Given the description of an element on the screen output the (x, y) to click on. 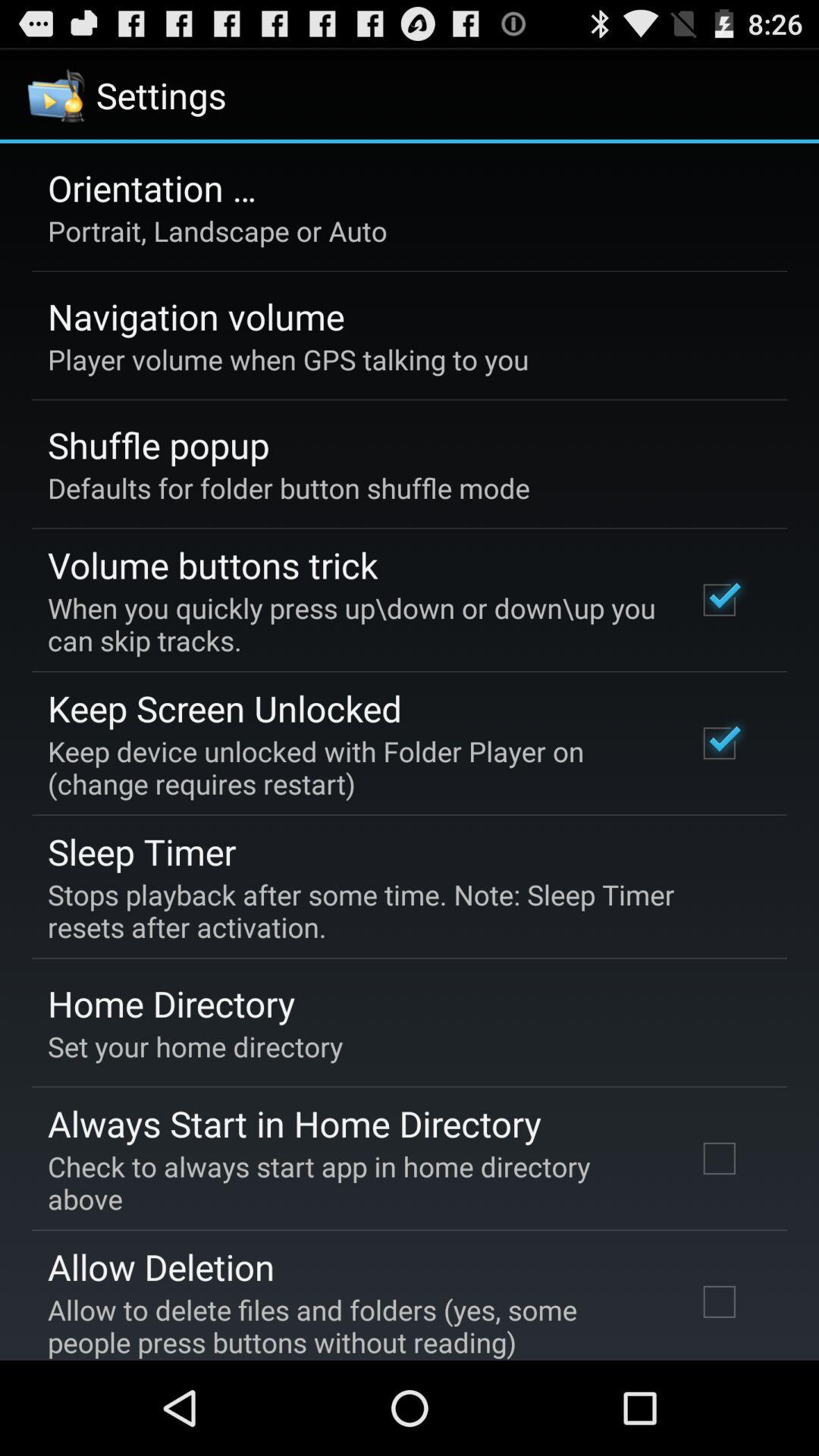
click app above volume buttons trick item (288, 487)
